Given the description of an element on the screen output the (x, y) to click on. 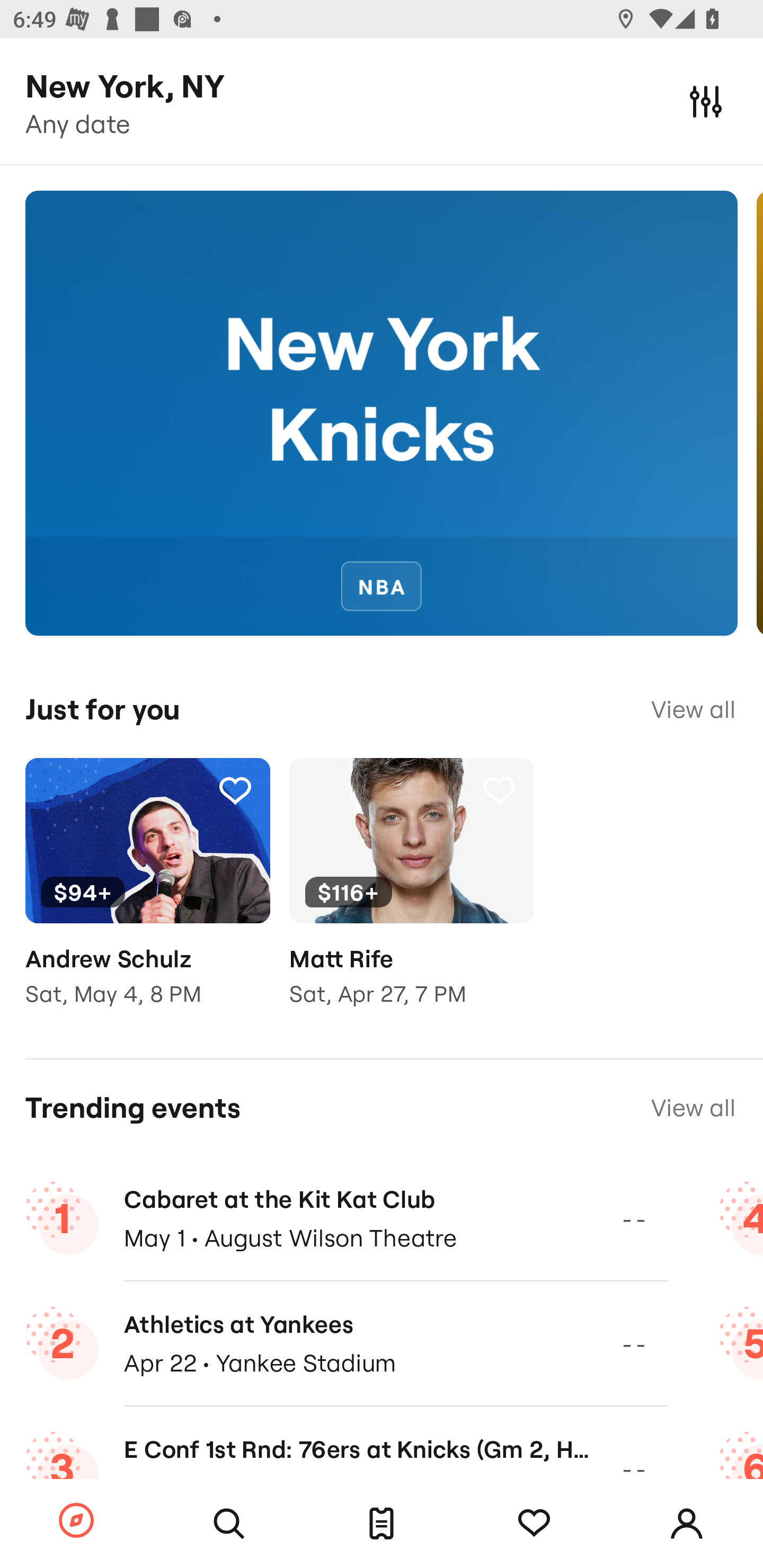
Filters (705, 100)
View all (693, 709)
Tracking $94+ Andrew Schulz Sat, May 4, 8 PM (147, 895)
Tracking $116+ Matt Rife Sat, Apr 27, 7 PM (411, 895)
Tracking (234, 790)
Tracking (498, 790)
View all (693, 1108)
Browse (76, 1521)
Search (228, 1523)
Tickets (381, 1523)
Tracking (533, 1523)
Account (686, 1523)
